Given the description of an element on the screen output the (x, y) to click on. 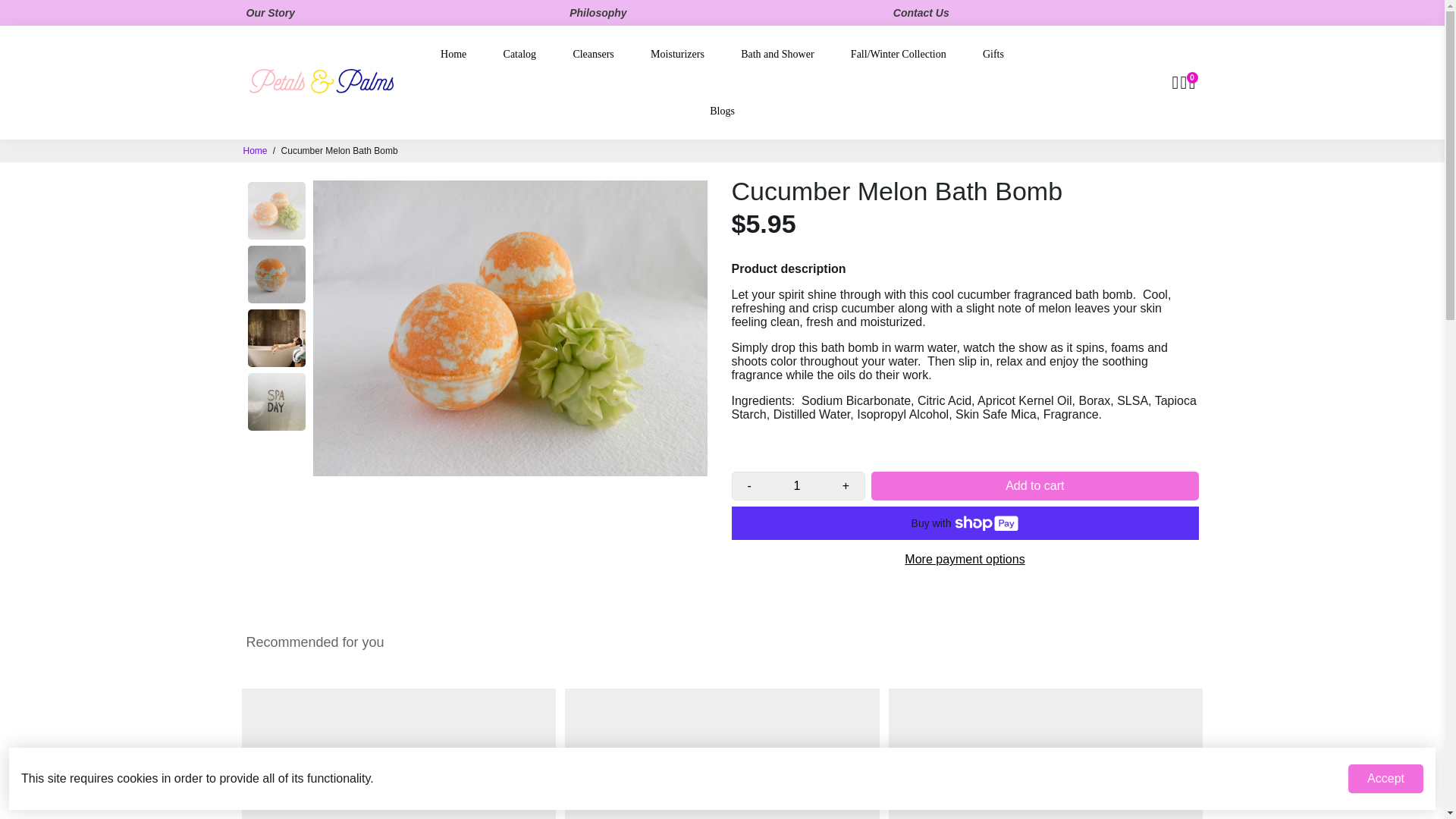
Moisturizers (676, 53)
Our Story (270, 12)
Philosophy (597, 12)
Cleansers (592, 53)
Contact Us, We Would Love To Hear From You (921, 12)
1 (797, 485)
Gifts (993, 53)
Contact Us (921, 12)
Home (254, 150)
Bath and Shower (776, 53)
Add to cart (1034, 485)
Home (453, 53)
Our Story (270, 12)
Catalog (519, 53)
Blogs (721, 110)
